Given the description of an element on the screen output the (x, y) to click on. 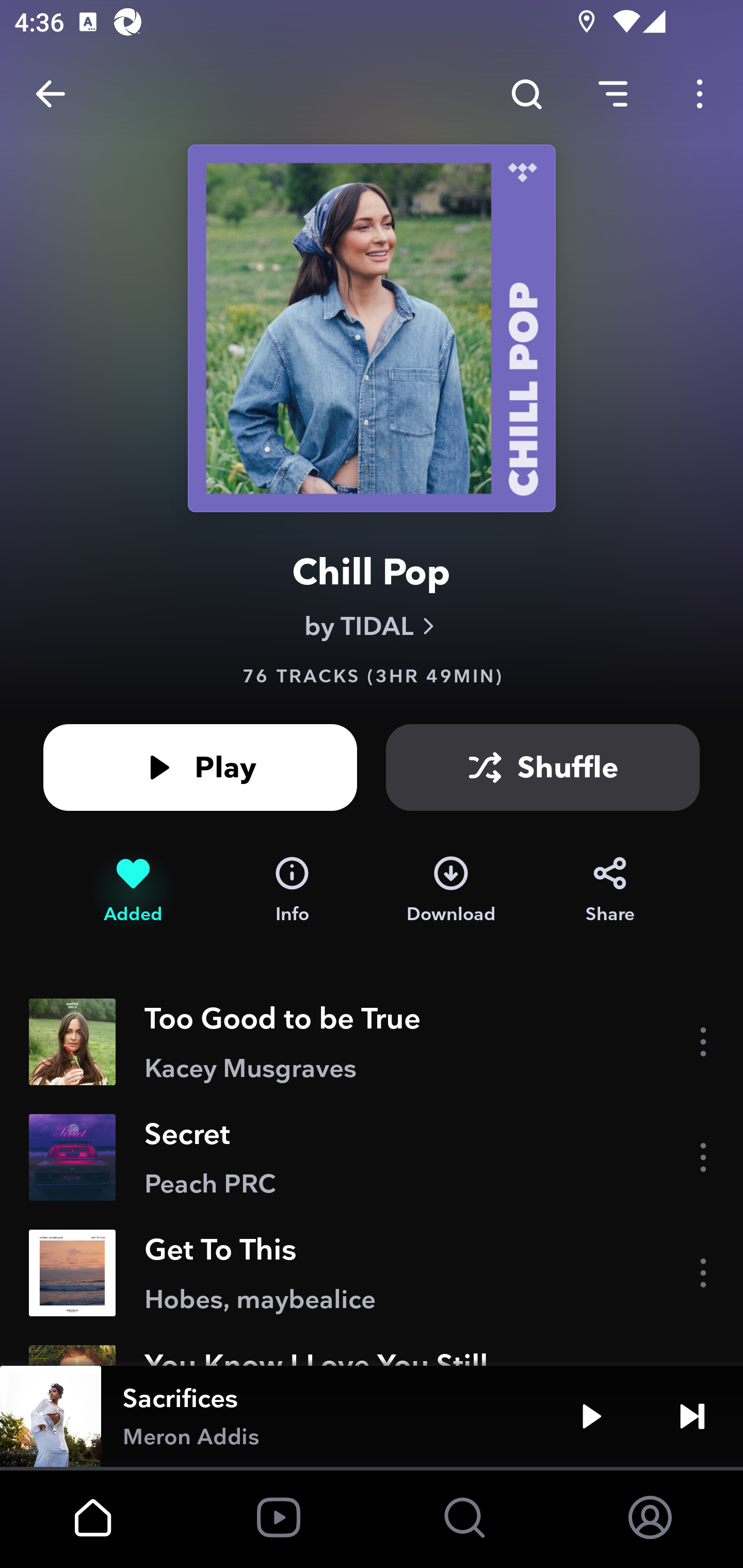
Back (50, 93)
Search (525, 93)
Sorting (612, 93)
Options (699, 93)
by TIDAL (371, 625)
Play (200, 767)
Shuffle (542, 767)
Added (132, 890)
Info (291, 890)
Download (450, 890)
Share (609, 890)
Too Good to be True Kacey Musgraves (371, 1041)
Secret Peach PRC (371, 1157)
Get To This Hobes, maybealice (371, 1273)
Sacrifices Meron Addis Play (371, 1416)
Play (590, 1416)
